Given the description of an element on the screen output the (x, y) to click on. 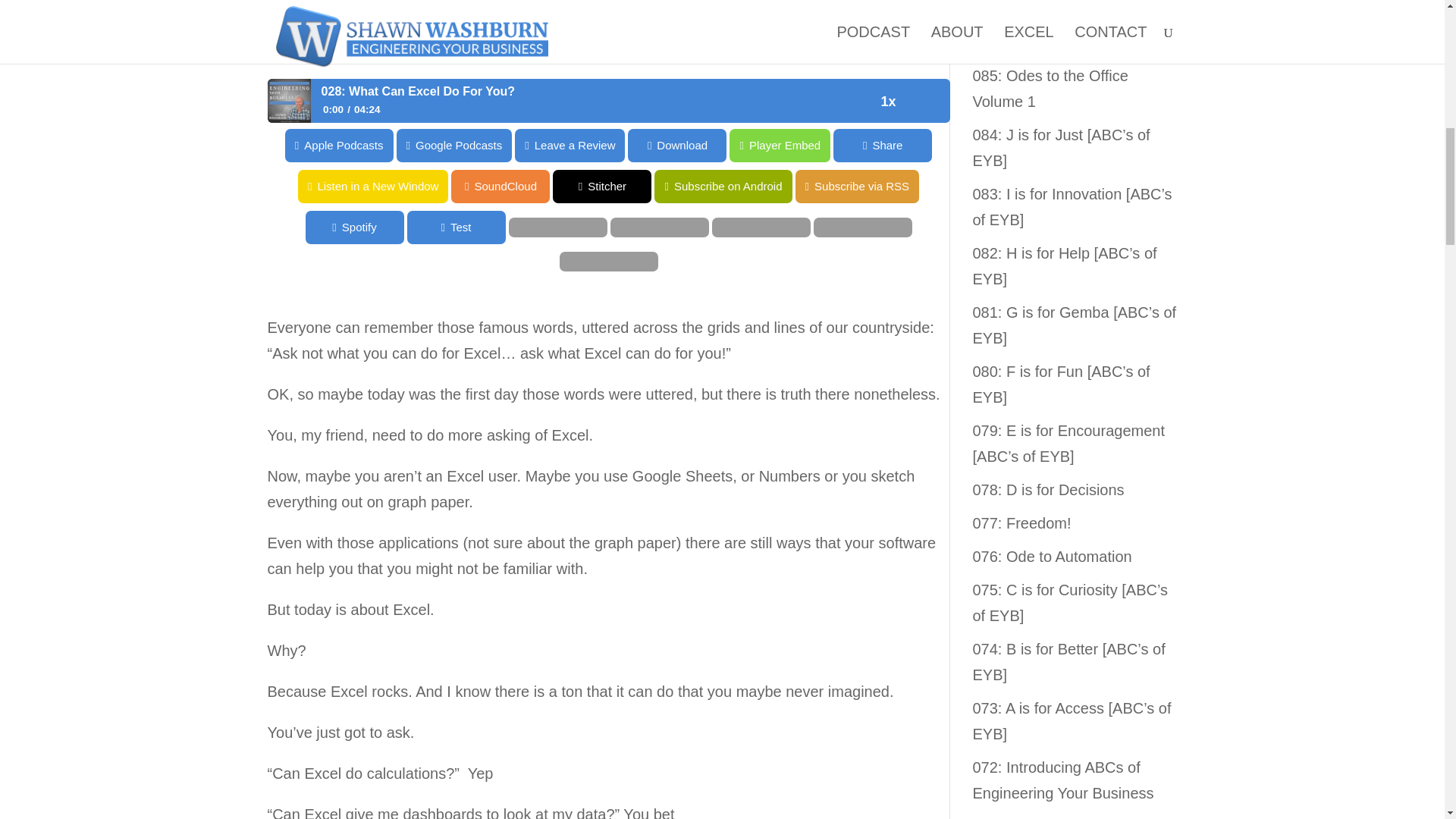
Download (779, 145)
Player Embed (50, 145)
Google Podcasts (556, 145)
Leave a Review (672, 145)
Apple Podcasts (441, 145)
Shawn (297, 35)
Posts by Shawn (297, 35)
Share (49, 145)
SoundCloud (49, 186)
Subscribe via RSS (61, 186)
